Given the description of an element on the screen output the (x, y) to click on. 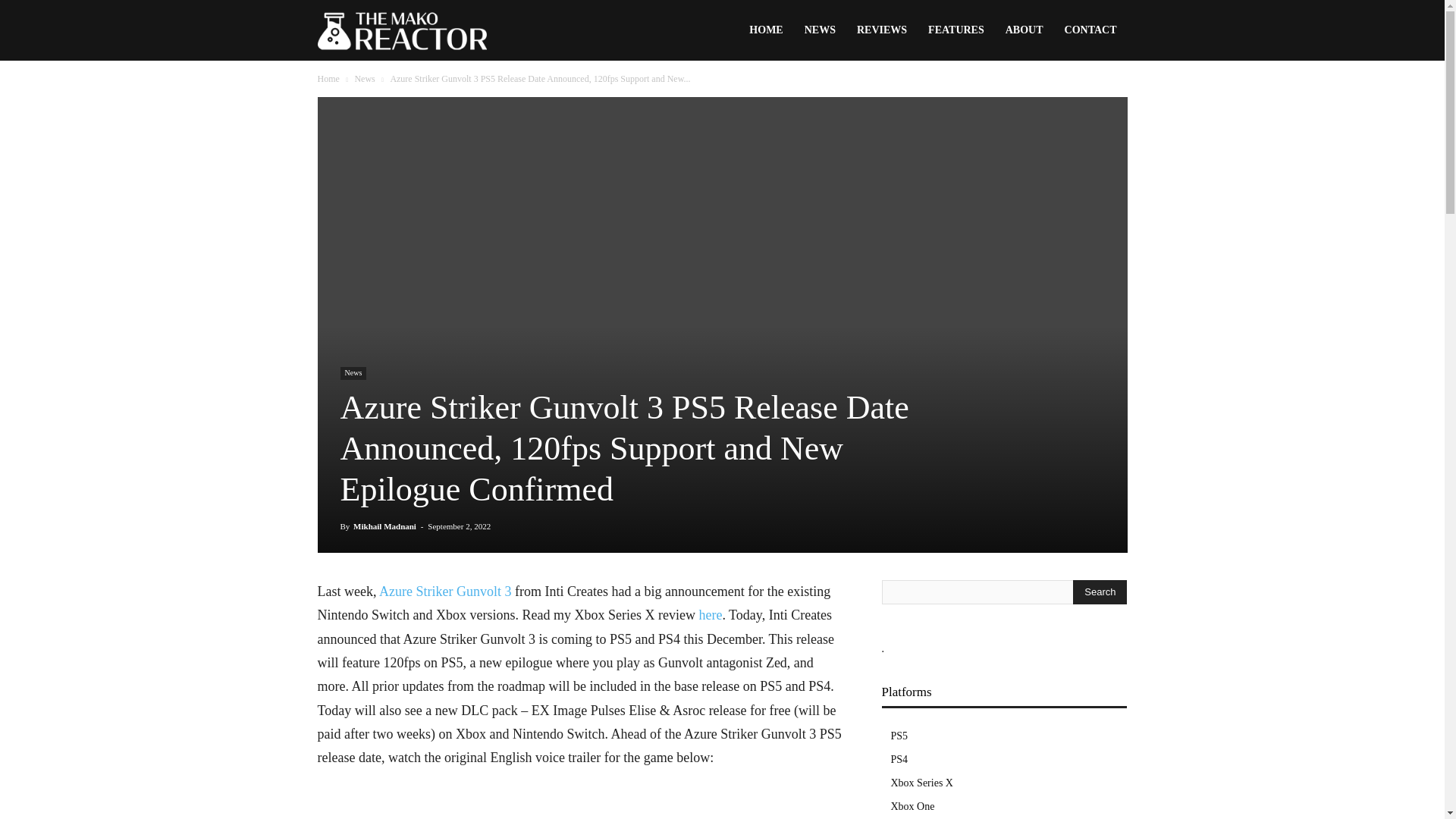
ABOUT (1024, 30)
REVIEWS (881, 30)
HOME (765, 30)
CONTACT (1090, 30)
FEATURES (955, 30)
The Mako Reactor (401, 30)
View all posts in News (363, 78)
The Mako Reactor (401, 30)
Azure Striker GUNVOLT 3  - English Voice Trailer (580, 804)
Azure Striker Gunvolt 3 (444, 590)
